Given the description of an element on the screen output the (x, y) to click on. 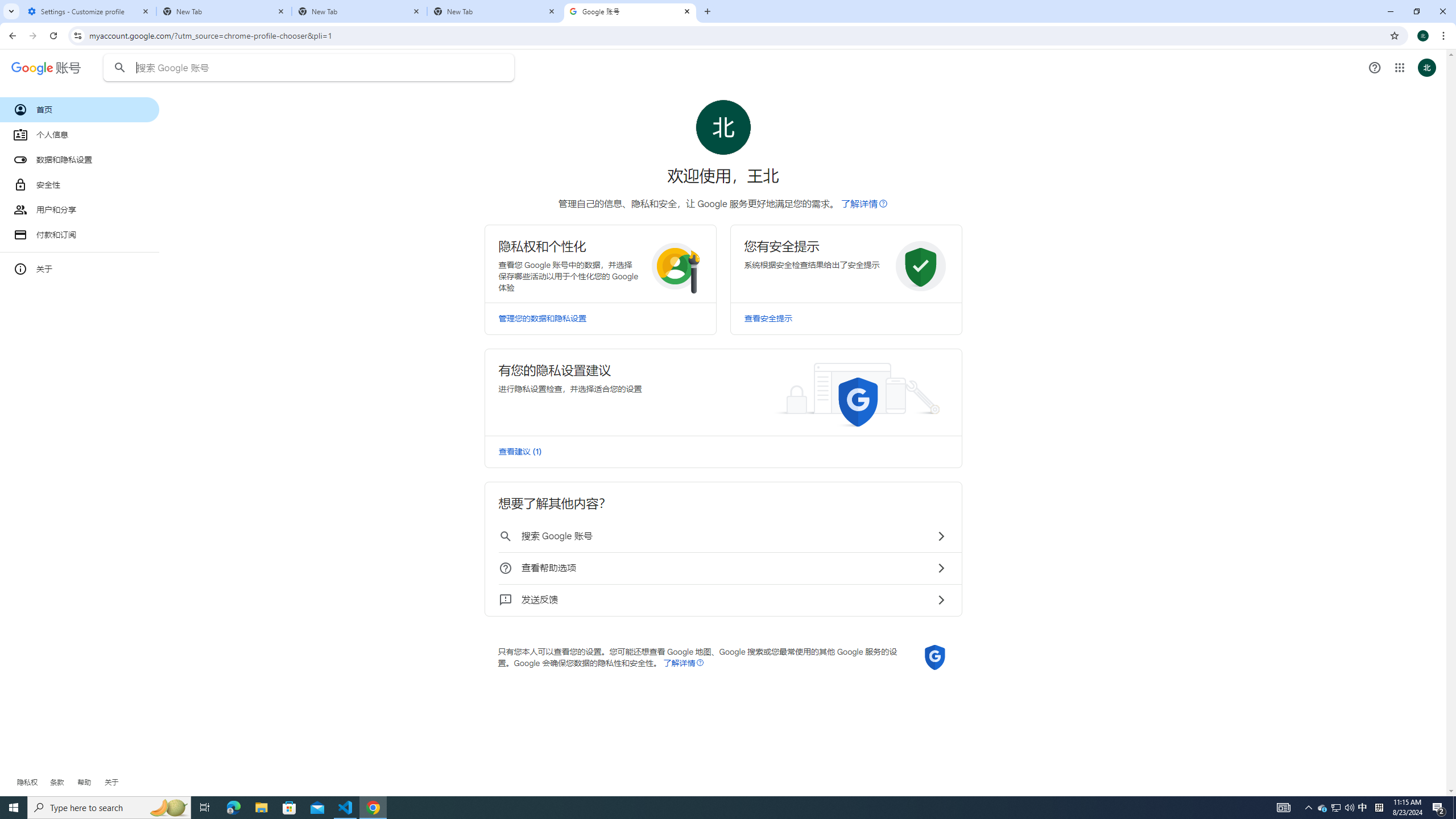
New Tab (224, 11)
